Given the description of an element on the screen output the (x, y) to click on. 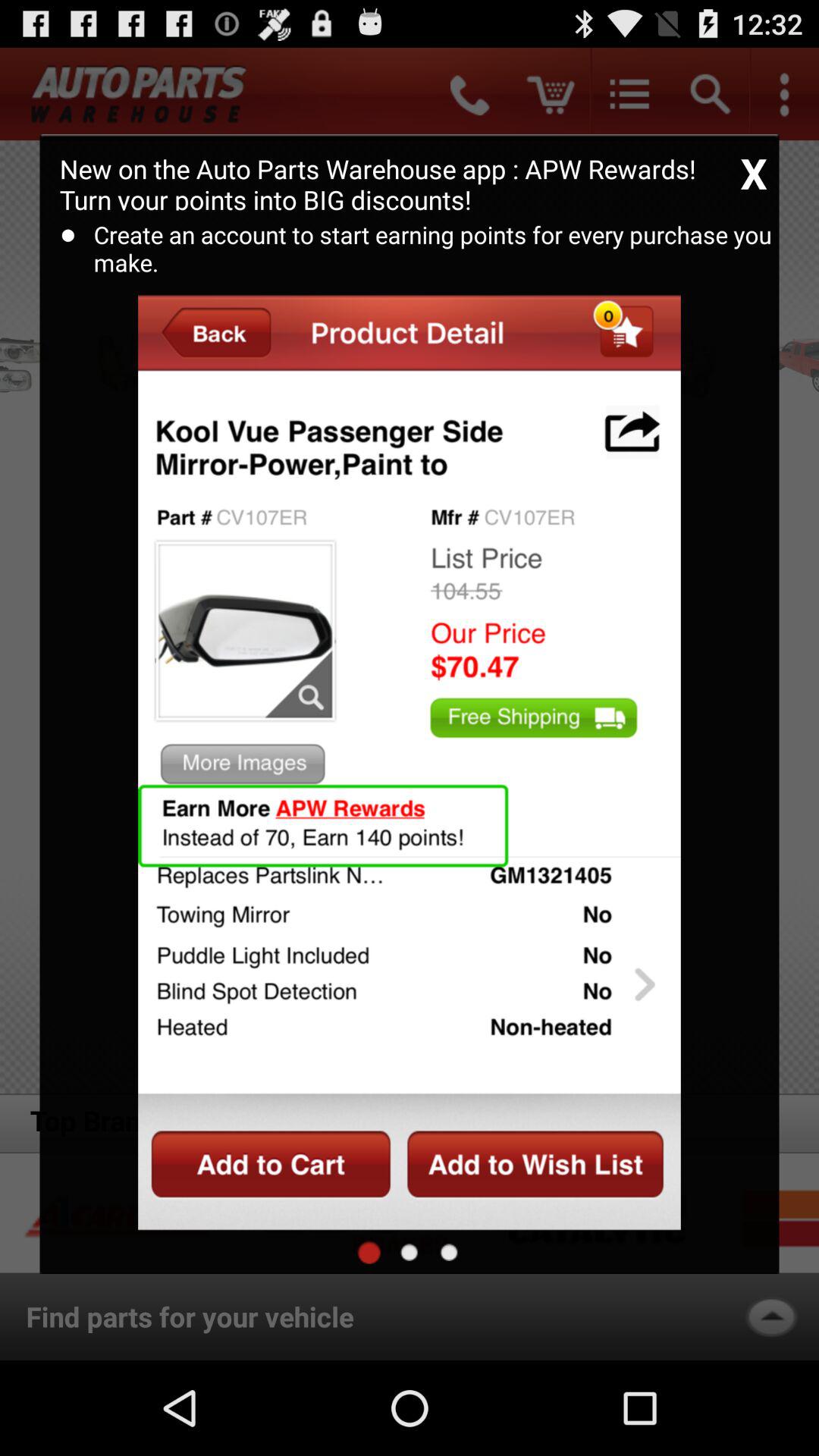
center screen (409, 1251)
